Given the description of an element on the screen output the (x, y) to click on. 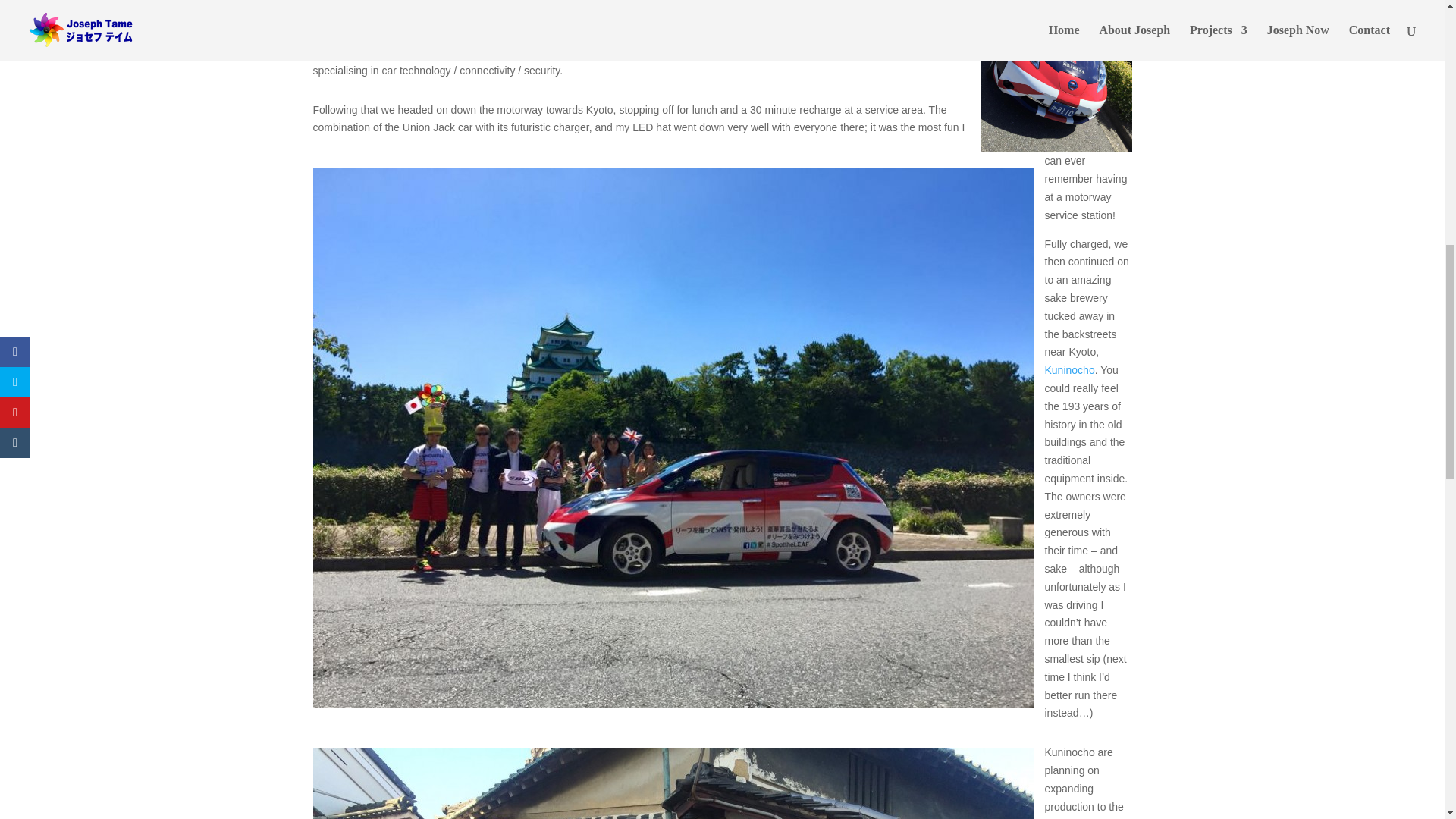
SBD Japan (728, 51)
Kuninocho (1069, 369)
